Given the description of an element on the screen output the (x, y) to click on. 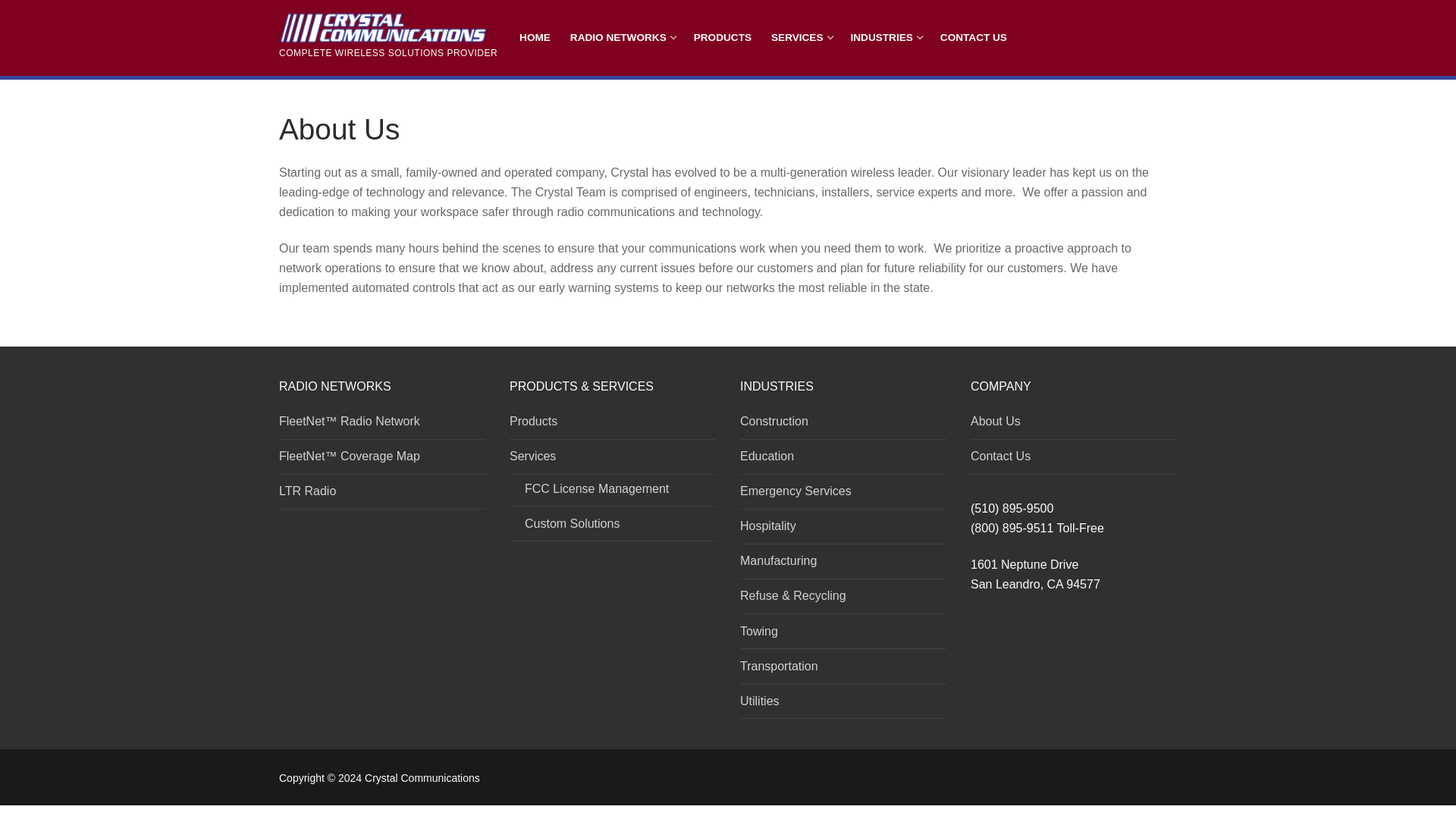
Custom Solutions (612, 527)
PRODUCTS (722, 37)
Emergency Services (842, 494)
Services  (612, 460)
Construction (842, 424)
Transportation (842, 669)
Products (612, 424)
Manufacturing (842, 564)
FCC License Management (612, 492)
Hospitality (842, 529)
